Given the description of an element on the screen output the (x, y) to click on. 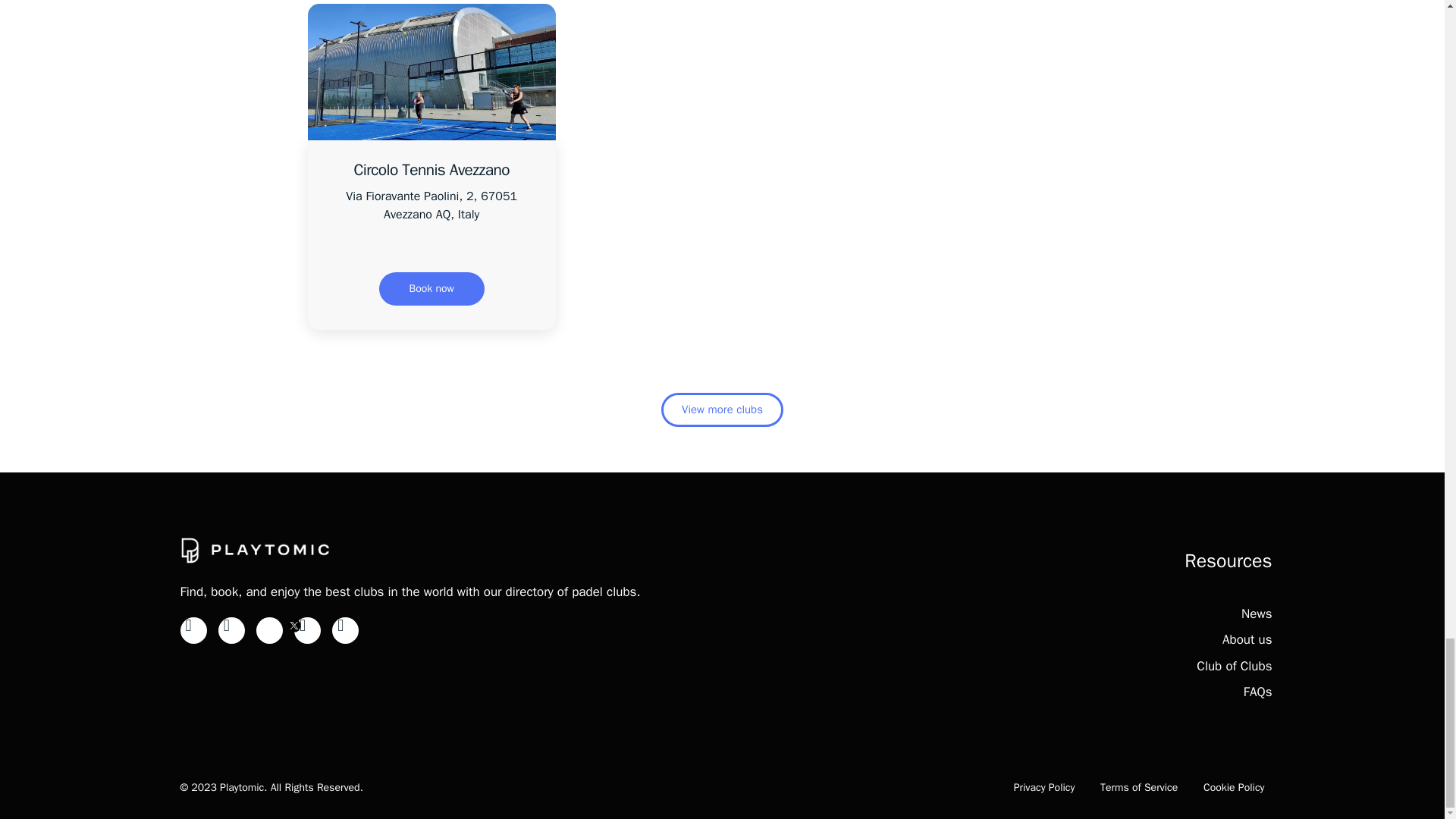
FAQs (1257, 691)
Privacy Policy (1044, 787)
Cookie Policy (1234, 787)
News (1256, 613)
About us (1247, 639)
Book now (431, 288)
Terms of Service (1138, 787)
Club of Clubs (1233, 666)
View more clubs (722, 409)
